Given the description of an element on the screen output the (x, y) to click on. 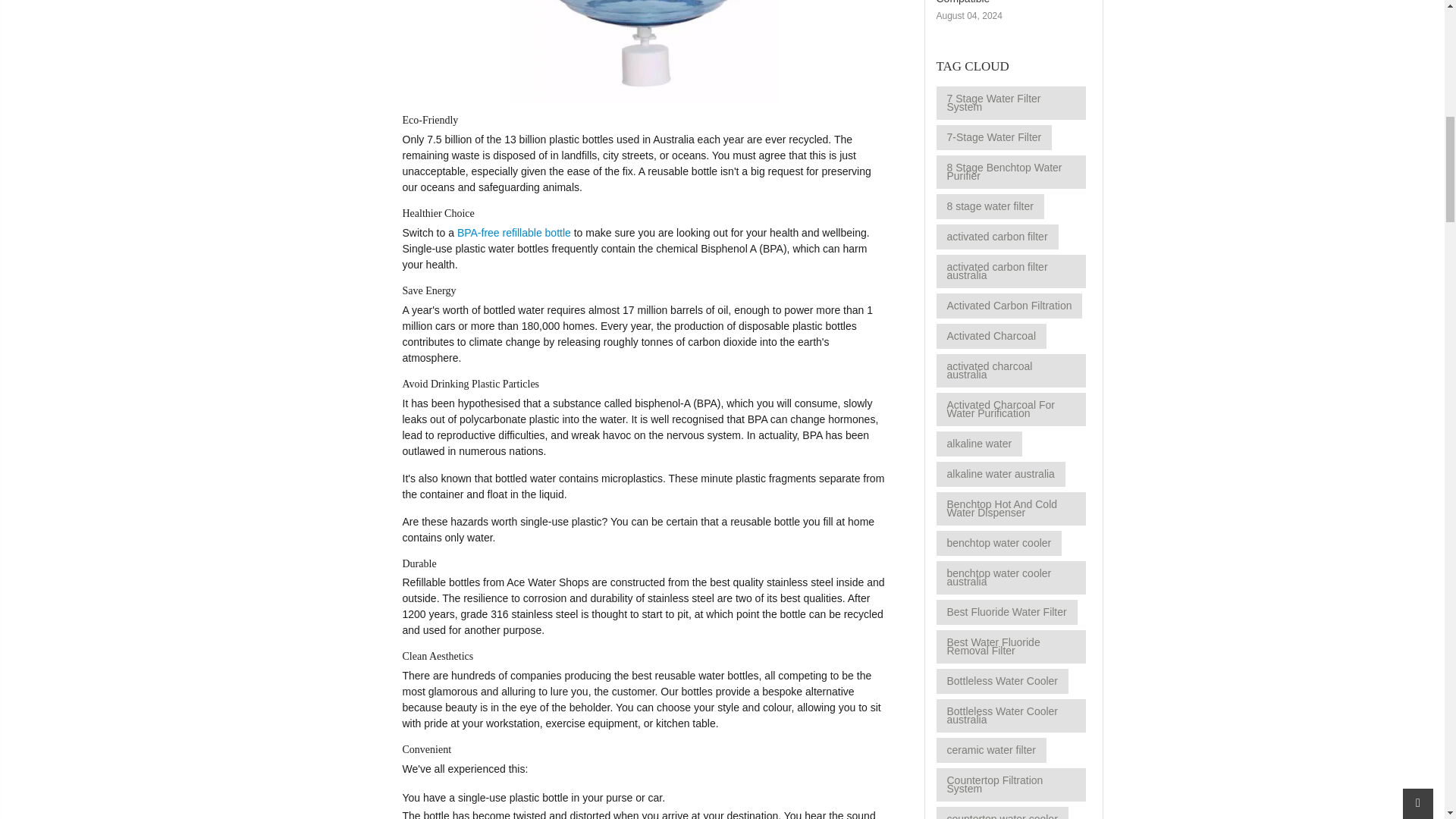
Show articles tagged alkaline water (979, 443)
Show articles tagged 8 Stage Benchtop Water Purifier (1010, 172)
Show articles tagged activated carbon filter australia (1010, 271)
Show articles tagged activated charcoal australia (1010, 370)
Show articles tagged Activated Carbon Filtration (1008, 305)
Show articles tagged 8 stage water filter (989, 206)
Show articles tagged activated carbon filter (997, 236)
Show articles tagged Activated Charcoal (991, 335)
Show articles tagged 7-Stage Water Filter (993, 137)
